Given the description of an element on the screen output the (x, y) to click on. 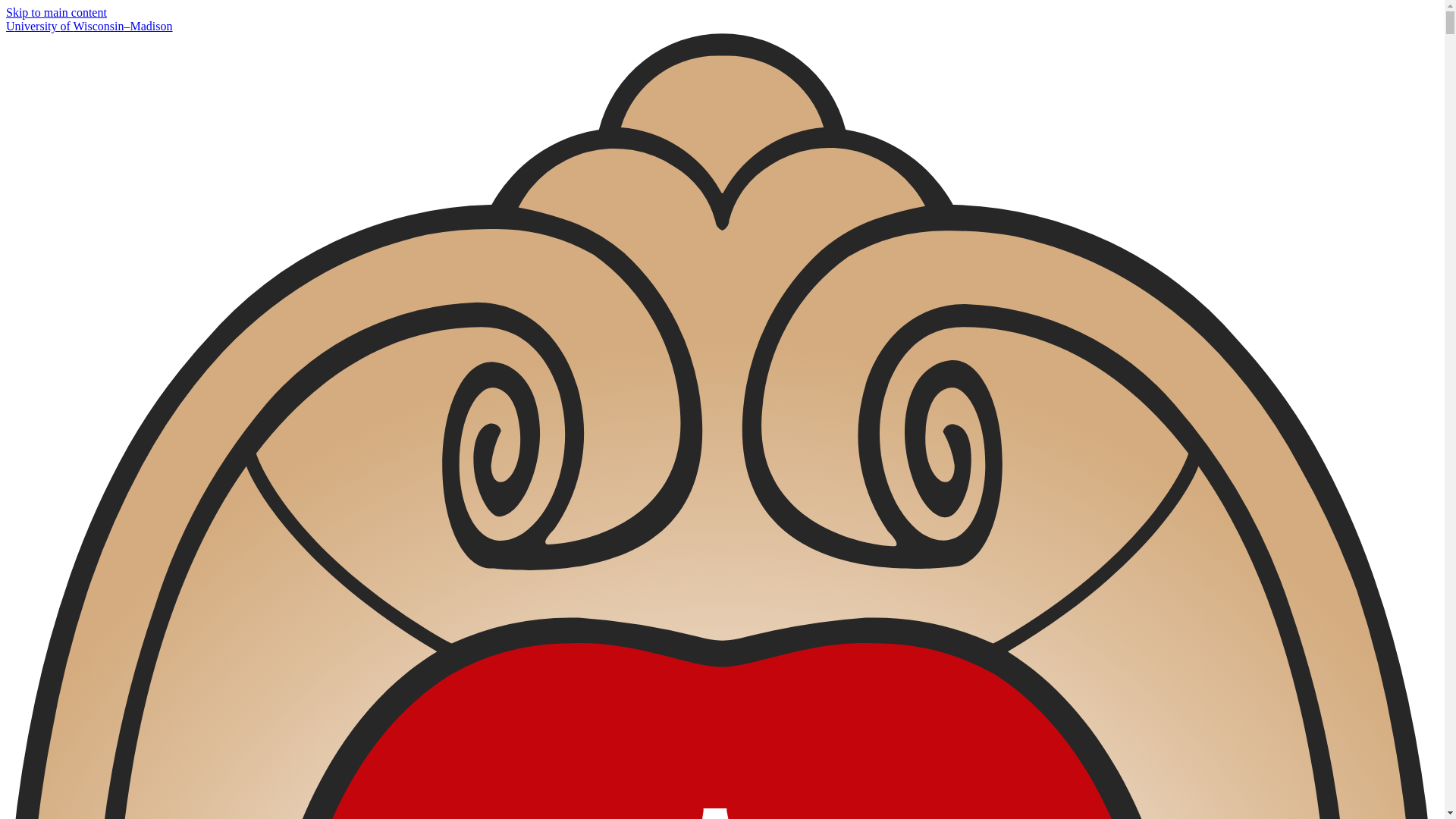
Skip to main content (55, 11)
